Given the description of an element on the screen output the (x, y) to click on. 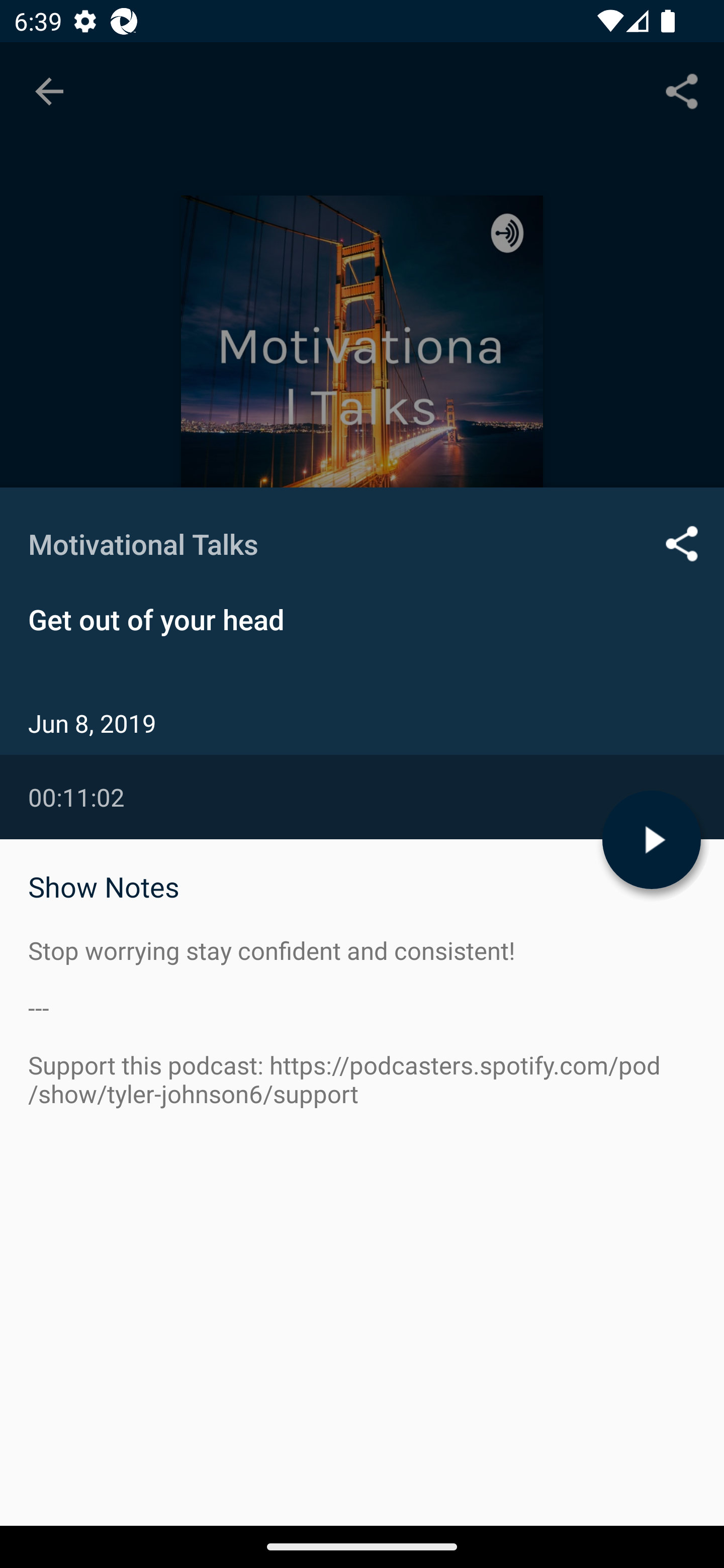
Navigate up (49, 91)
Share... (681, 90)
12/09 2019 I'm back (362, 867)
06/08 2019 Get out of your head (362, 985)
06/02 2019 A leap of faith (362, 1104)
